Given the description of an element on the screen output the (x, y) to click on. 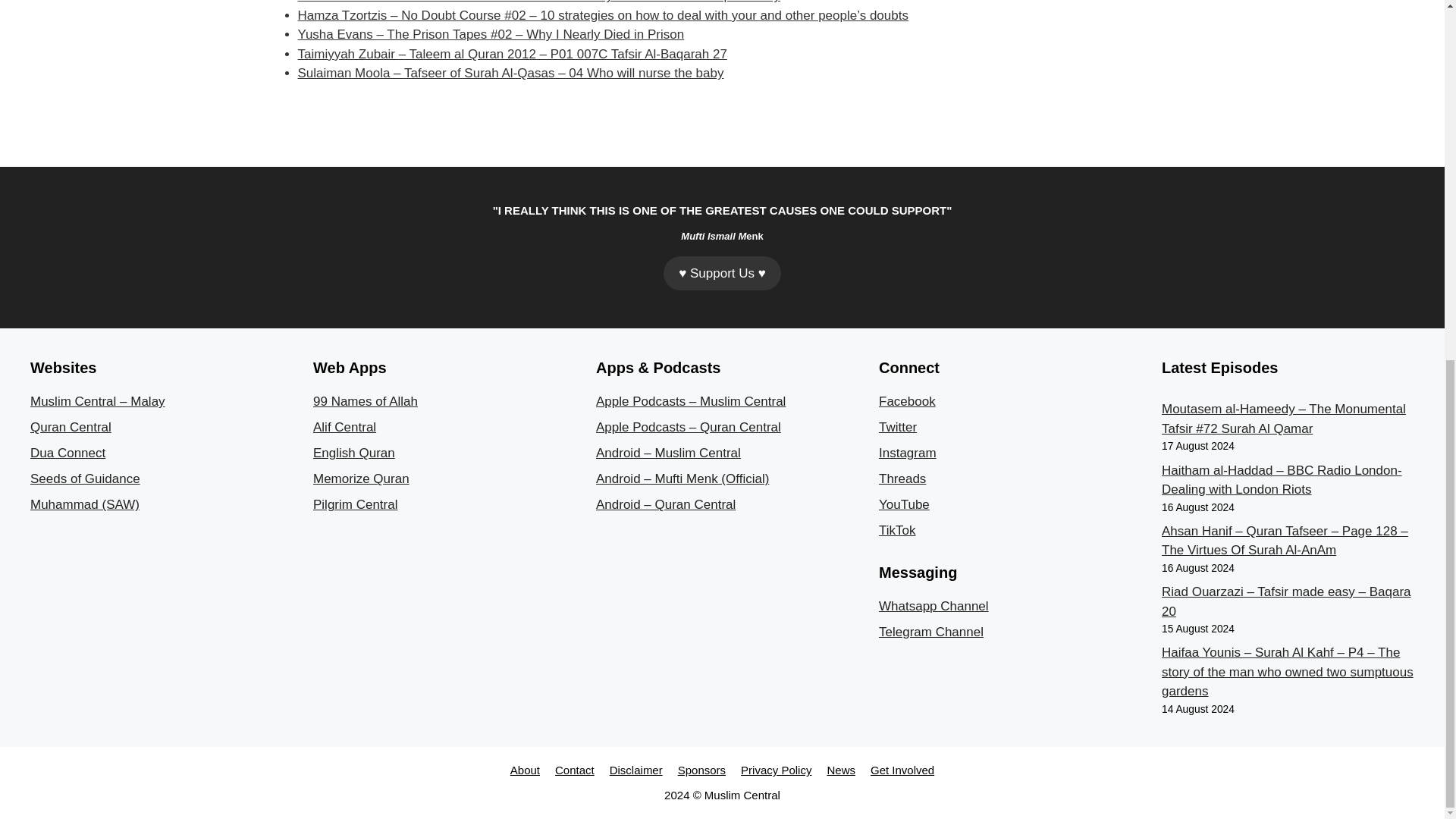
Dua Connect (67, 452)
Memorize Quran (361, 478)
99 Names of Allah (365, 400)
English Quran (353, 452)
Seeds of Guidance (84, 478)
Pilgrim Central (355, 504)
Alif Central (344, 427)
Quran Central (71, 427)
